Given the description of an element on the screen output the (x, y) to click on. 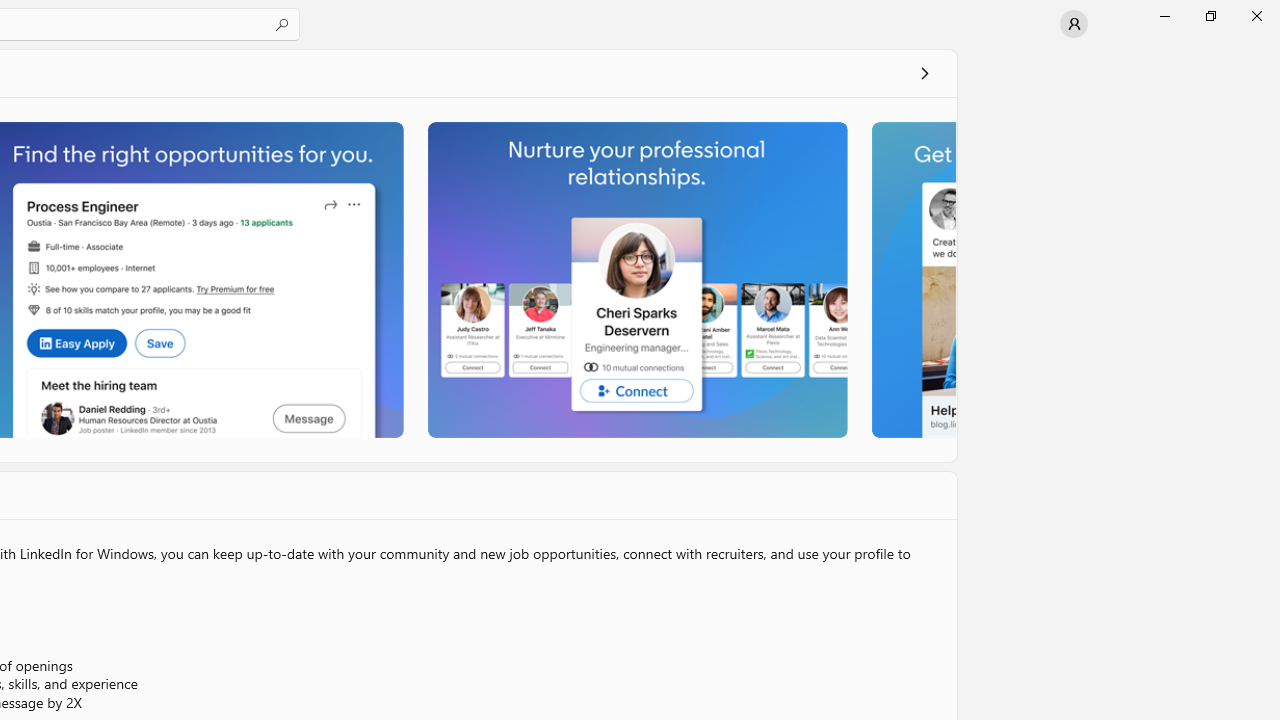
Minimize Microsoft Store (1164, 15)
See all (924, 72)
Screenshot 4 (912, 279)
Close Microsoft Store (1256, 15)
Restore Microsoft Store (1210, 15)
Screenshot 3 (636, 279)
User profile (1073, 24)
